Given the description of an element on the screen output the (x, y) to click on. 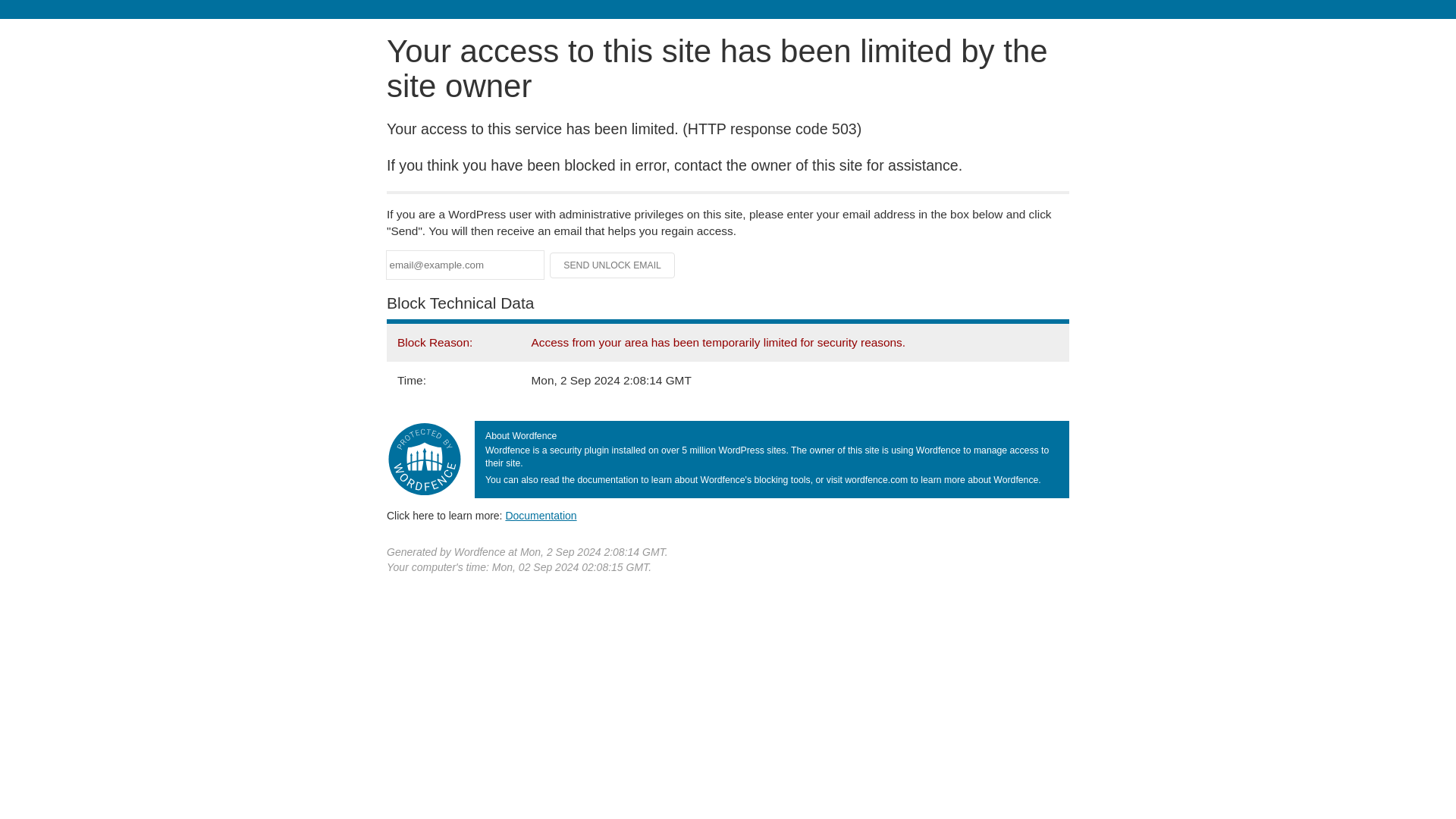
Documentation (540, 515)
Send Unlock Email (612, 265)
Send Unlock Email (612, 265)
